Given the description of an element on the screen output the (x, y) to click on. 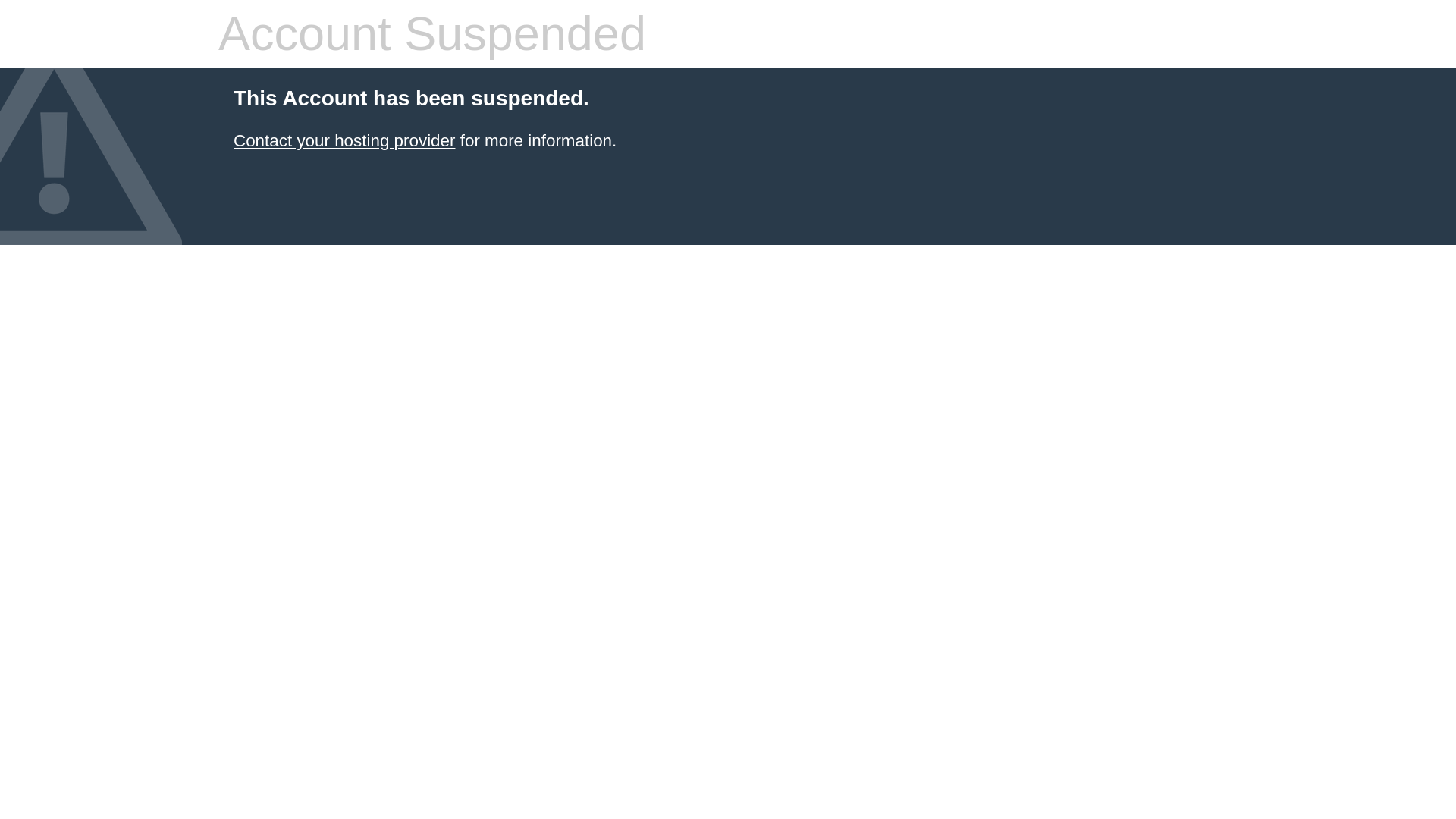
SirsteveHQ (343, 140)
Contact your hosting provider (343, 140)
